Given the description of an element on the screen output the (x, y) to click on. 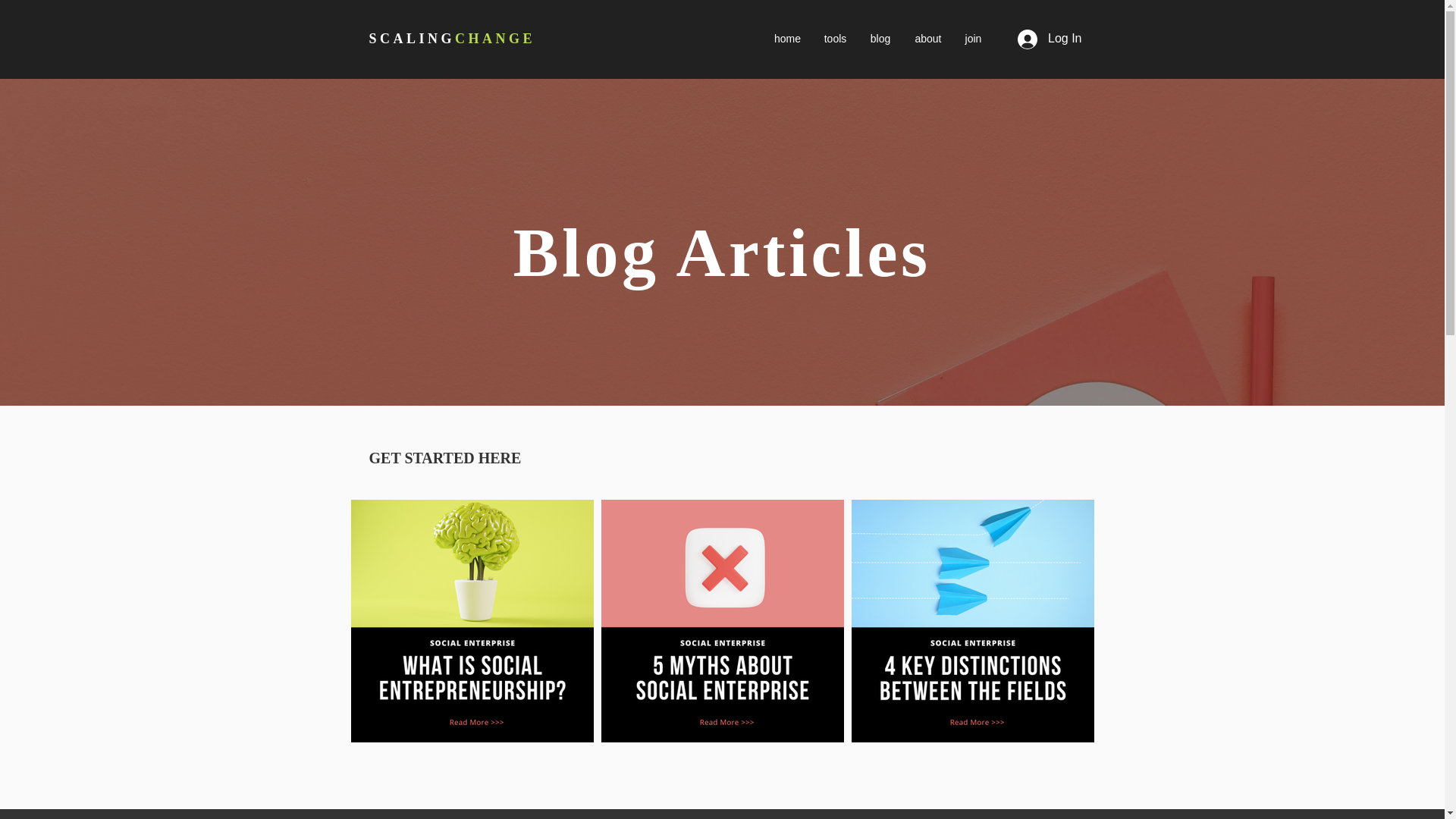
home (787, 38)
Log In (1049, 38)
about (927, 38)
tools (835, 38)
join (972, 38)
blog (880, 38)
